Given the description of an element on the screen output the (x, y) to click on. 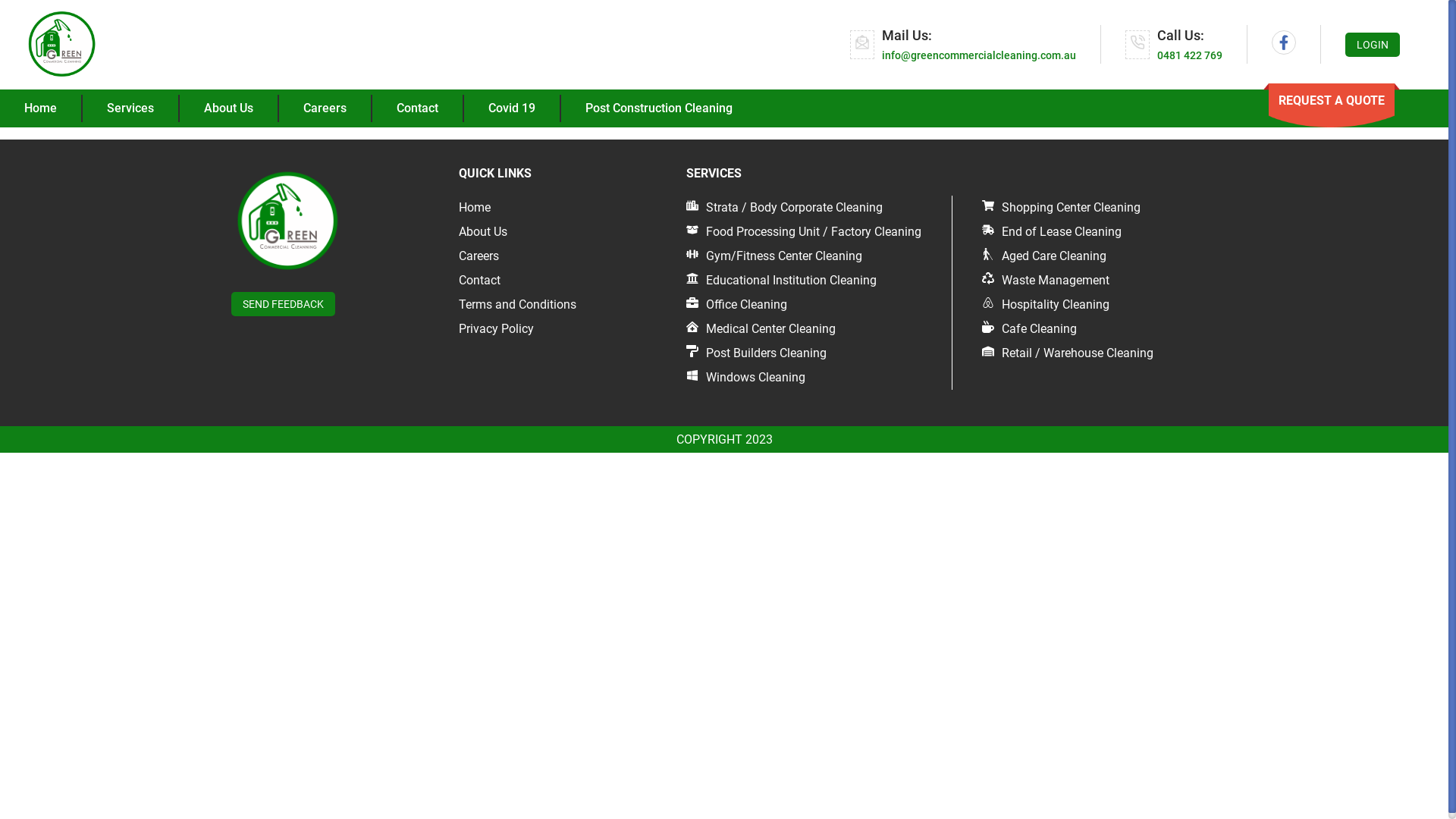
LOGIN Element type: text (1372, 44)
About Us Element type: text (482, 231)
Post Construction Cleaning Element type: text (658, 108)
Covid 19 Element type: text (512, 108)
Home Element type: text (41, 108)
About Us Element type: text (229, 108)
Waste Management Element type: text (1045, 280)
SEND FEEDBACK Element type: text (283, 303)
Careers Element type: text (478, 255)
Careers Element type: text (325, 108)
REQUEST A QUOTE Element type: text (1331, 100)
SEND FEEDBACK Element type: text (283, 304)
Terms and Conditions Element type: text (517, 304)
Retail / Warehouse Cleaning Element type: text (1067, 352)
info@greencommercialcleaning.com.au Element type: text (978, 55)
Services Element type: text (130, 108)
Aged Care Cleaning Element type: text (1044, 255)
Hospitality Cleaning Element type: text (1045, 304)
Windows Cleaning Element type: text (745, 377)
Educational Institution Cleaning Element type: text (781, 280)
Home Element type: text (474, 207)
Food Processing Unit / Factory Cleaning Element type: text (803, 231)
Gym/Fitness Center Cleaning Element type: text (774, 255)
End of Lease Cleaning Element type: text (1051, 231)
Privacy Policy Element type: text (495, 328)
Contact Element type: text (479, 280)
Strata / Body Corporate Cleaning Element type: text (784, 207)
Medical Center Cleaning Element type: text (760, 328)
Contact Element type: text (418, 108)
Post Builders Cleaning Element type: text (756, 352)
Office Cleaning Element type: text (736, 304)
0481 422 769 Element type: text (1189, 55)
Shopping Center Cleaning Element type: text (1061, 207)
Cafe Cleaning Element type: text (1029, 328)
